Given the description of an element on the screen output the (x, y) to click on. 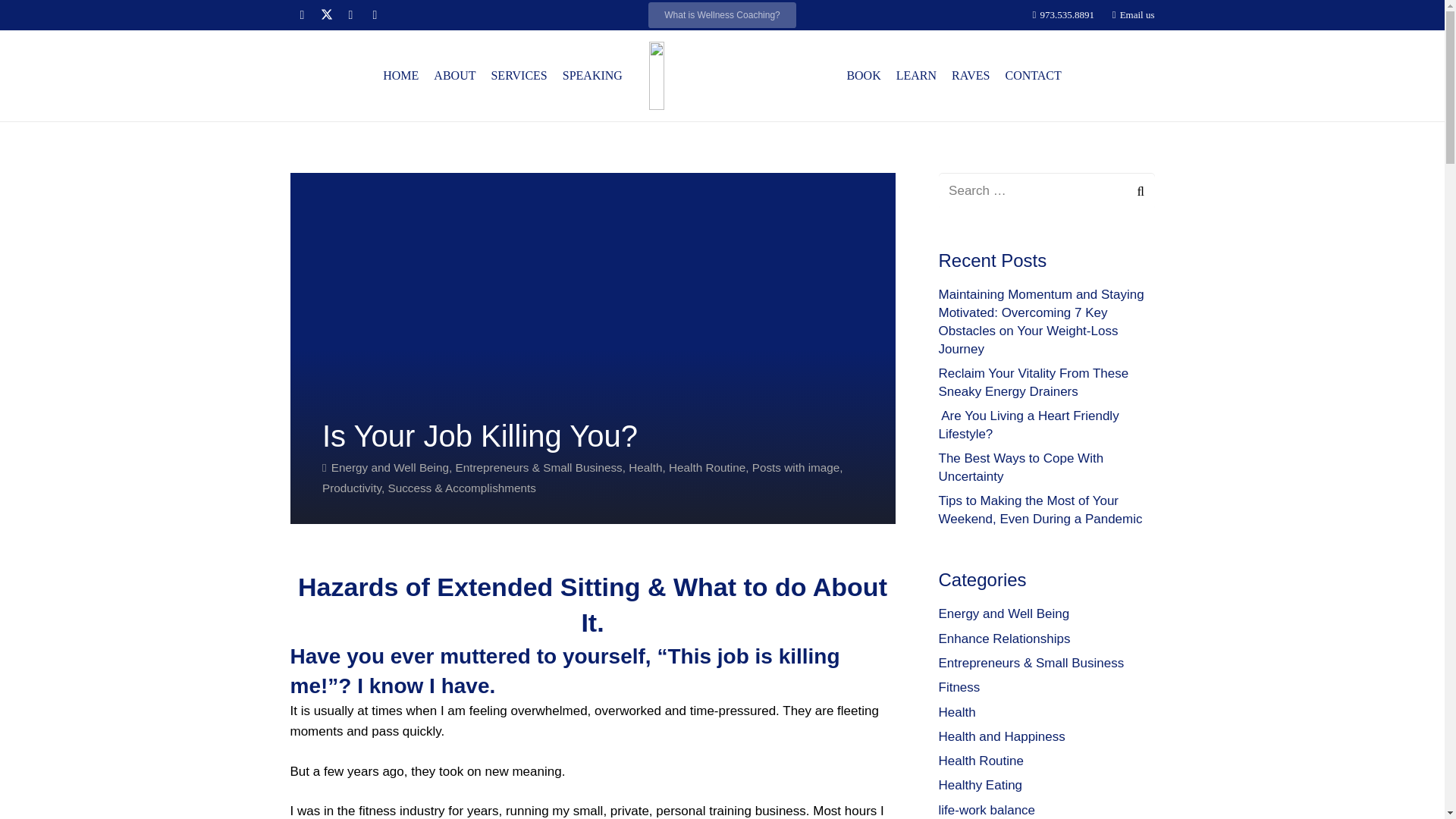
Twitter (325, 15)
What is Wellness Coaching? (721, 14)
973.535.8891 (1062, 14)
Email us (1133, 14)
Google (349, 15)
LinkedIn (374, 15)
Facebook (301, 15)
